Given the description of an element on the screen output the (x, y) to click on. 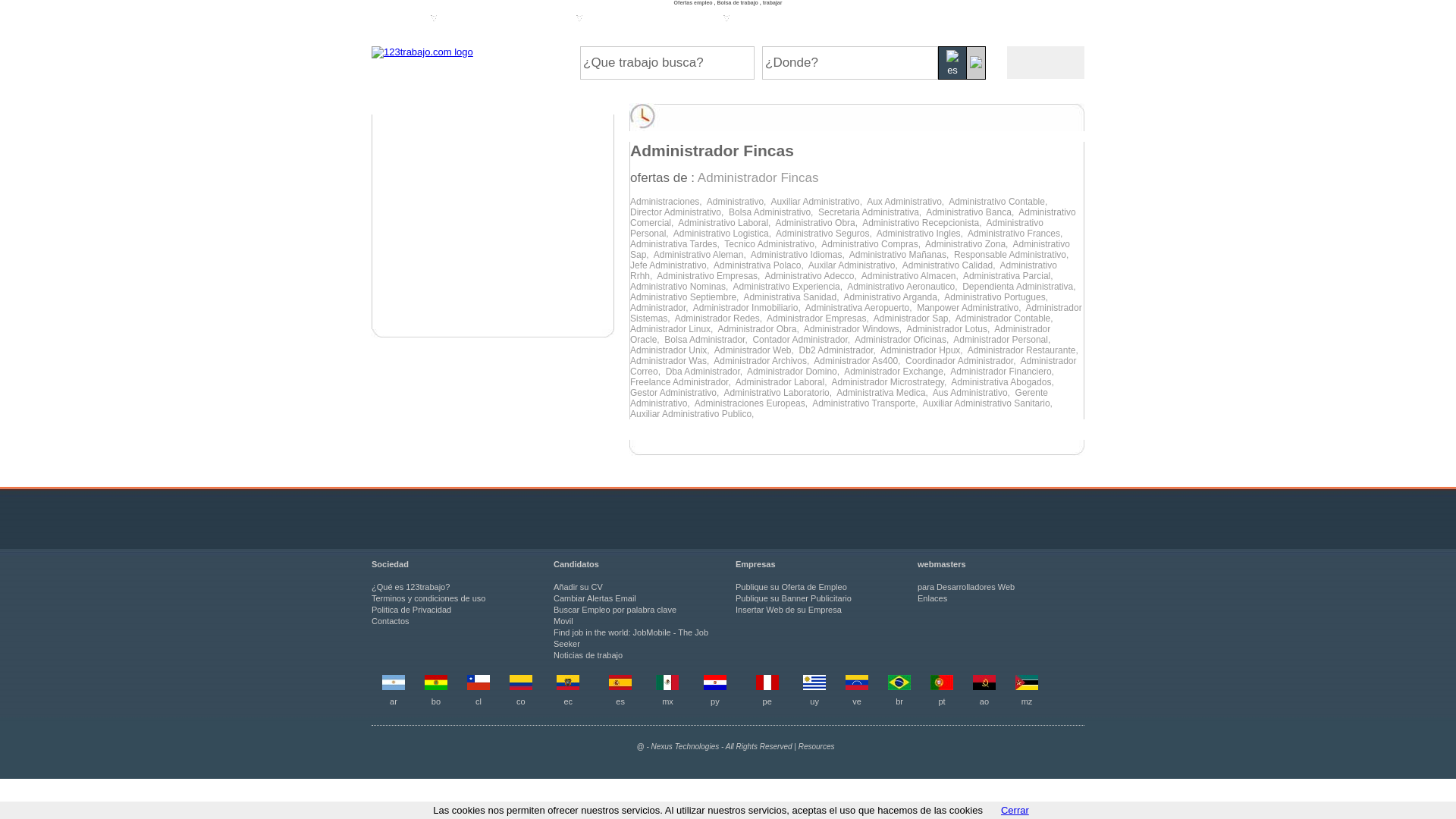
mx Element type: text (667, 701)
Enlaces Element type: text (932, 597)
para Desarrolladores Web Element type: text (965, 586)
Responsable Administrativo,  Element type: text (1012, 254)
Director Administrativo,  Element type: text (679, 212)
Administrador Windows,  Element type: text (854, 328)
Dependienta Administrativa,  Element type: text (1020, 286)
es Element type: text (619, 701)
bo Element type: text (435, 701)
ofertas trabajo venezuela Element type: hover (856, 686)
Administraciones Europeas,  Element type: text (753, 403)
Bolsa Administrador,  Element type: text (708, 339)
Gerente Administrativo,  Element type: text (839, 397)
Administrador Personal,  Element type: text (1002, 339)
Noticias de trabajo Element type: text (587, 654)
Administrador Redes,  Element type: text (720, 318)
Publique su Oferta de Empleo Element type: text (791, 586)
Administrativo Portugues,  Element type: text (997, 296)
ofertas trabajo argentina Element type: hover (393, 686)
Publique su Banner Publicitario Element type: text (793, 597)
Terminos y condiciones de uso Element type: text (428, 597)
job offers bolivia Element type: hover (435, 686)
Administrativo Idiomas,  Element type: text (799, 254)
Administrador Unix,  Element type: text (672, 350)
Candidatos Element type: text (439, 21)
Administrativo Aeronautico,  Element type: text (904, 286)
Administrativo Adecco,  Element type: text (812, 275)
Administrativo Recepcionista,  Element type: text (923, 222)
Auxilar Administrativo,  Element type: text (855, 265)
Administrativo Sap,  Element type: text (850, 249)
Manpower Administrativo,  Element type: text (970, 307)
Coordinador Administrador,  Element type: text (962, 360)
Gestor Administrativo,  Element type: text (676, 392)
Administrador Archivos,  Element type: text (763, 360)
Administraciones,  Element type: text (668, 201)
mz Element type: text (1026, 701)
Jefe Administrativo,  Element type: text (671, 265)
ao Element type: text (983, 701)
Administrador,  Element type: text (661, 307)
Administrativo Ingles,  Element type: text (921, 233)
Administrativo Rrhh,  Element type: text (843, 270)
Administrativo Personal,  Element type: text (836, 227)
Auxiliar Administrativo Publico,  Element type: text (693, 413)
Administrador Exchange,  Element type: text (897, 371)
Buscar Empleo por palabra clave Element type: text (614, 609)
Administrativo Seguros,  Element type: text (825, 233)
co Element type: text (520, 701)
ar Element type: text (393, 701)
Administrativo Contable,  Element type: text (998, 201)
ofertas trabajo angola Element type: hover (983, 686)
Administrador Inmobiliario,  Element type: text (749, 307)
Empresas Element type: text (596, 21)
ofertas trabajo uruguay Element type: hover (814, 686)
Freelance Administrador,  Element type: text (682, 381)
job offers ecuador Element type: hover (567, 686)
Administrativo Logistica,  Element type: text (724, 233)
Administrador Domino,  Element type: text (795, 371)
Cambiar Alertas Email Element type: text (594, 597)
Administrativo Compras,  Element type: text (873, 243)
Administrativo Nominas,  Element type: text (681, 286)
Administrador Sistemas,  Element type: text (856, 312)
Administrativo Calidad,  Element type: text (951, 265)
Administrador Hpux,  Element type: text (923, 350)
Administrador Oficinas,  Element type: text (903, 339)
Administrativa Medica,  Element type: text (884, 392)
Administrador Linux,  Element type: text (673, 328)
Aux Administrativo,  Element type: text (907, 201)
pe Element type: text (766, 701)
Contactos Element type: text (390, 620)
Politica de Privacidad Element type: text (411, 609)
Administrador Microstrategy,  Element type: text (890, 381)
Administrativo Aleman,  Element type: text (701, 254)
Administrador Lotus,  Element type: text (950, 328)
Administrativo Empresas,  Element type: text (710, 275)
Movil Element type: text (563, 620)
Administrador Financiero,  Element type: text (1003, 371)
Auxiliar Administrativo,  Element type: text (818, 201)
Administrador As400,  Element type: text (859, 360)
ofertas trabajo portugal Element type: hover (941, 686)
pt Element type: text (941, 701)
Administrador Fincas Element type: text (758, 177)
br Element type: text (899, 701)
Administrativo Banca,  Element type: text (971, 212)
Administrativo Laboratorio,  Element type: text (779, 392)
Aus Administrativo,  Element type: text (973, 392)
Administrativo Laboral,  Element type: text (726, 222)
Administrativa Aeropuerto,  Element type: text (860, 307)
Administrador Was,  Element type: text (671, 360)
Bolsa Administrativo,  Element type: text (773, 212)
Administrativo Zona,  Element type: text (968, 243)
ec Element type: text (567, 701)
ofertas trabajo brasil Element type: hover (899, 686)
Administrativa Sanidad,  Element type: text (793, 296)
Dba Administrador,  Element type: text (705, 371)
Administrativa Abogados,  Element type: text (1003, 381)
Administrador Obra,  Element type: text (760, 328)
job offers paraguay Element type: hover (714, 686)
Resources Element type: text (816, 746)
Administrador Laboral,  Element type: text (783, 381)
Administrativa Parcial,  Element type: text (1009, 275)
ve Element type: text (856, 701)
ofertas trabajo mexico Element type: hover (666, 686)
Find job in the world: JobMobile - The Job Seeker Element type: text (630, 637)
Administrativo Septiembre,  Element type: text (686, 296)
Administrativo Experiencia,  Element type: text (789, 286)
Administrador Correo,  Element type: text (853, 365)
uy Element type: text (814, 701)
Administrador Empresas,  Element type: text (819, 318)
ofertas trabajo colombia Element type: hover (520, 686)
Advertisement Element type: hover (492, 225)
Secretaria Administrativa,  Element type: text (871, 212)
Contador Administrador,  Element type: text (803, 339)
Administrativo Almacen,  Element type: text (912, 275)
Administrativo,  Element type: text (738, 201)
Insertar Web de su Empresa Element type: text (788, 609)
ofertas trabajo chile Element type: hover (478, 686)
Administrativo Comercial,  Element type: text (853, 217)
Auxiliar Administrativo Sanitario,  Element type: text (988, 403)
Db2 Administrador,  Element type: text (839, 350)
  es Element type: text (952, 62)
Administrativo Obra,  Element type: text (818, 222)
cl Element type: text (478, 701)
Administrativa Tardes,  Element type: text (677, 243)
Administrador Contable,  Element type: text (1005, 318)
Administrativo Arganda,  Element type: text (893, 296)
Cerrar Element type: text (1015, 809)
py Element type: text (714, 701)
Administrador Sap,  Element type: text (914, 318)
Administrativo Frances,  Element type: text (1016, 233)
Administrador Oracle,  Element type: text (840, 334)
Administrativo Transporte,  Element type: text (867, 403)
Administrador Web,  Element type: text (756, 350)
Administrativa Polaco,  Element type: text (760, 265)
Administrador Restaurante,  Element type: text (1023, 350)
Tecnico Administrativo,  Element type: text (772, 243)
